Given the description of an element on the screen output the (x, y) to click on. 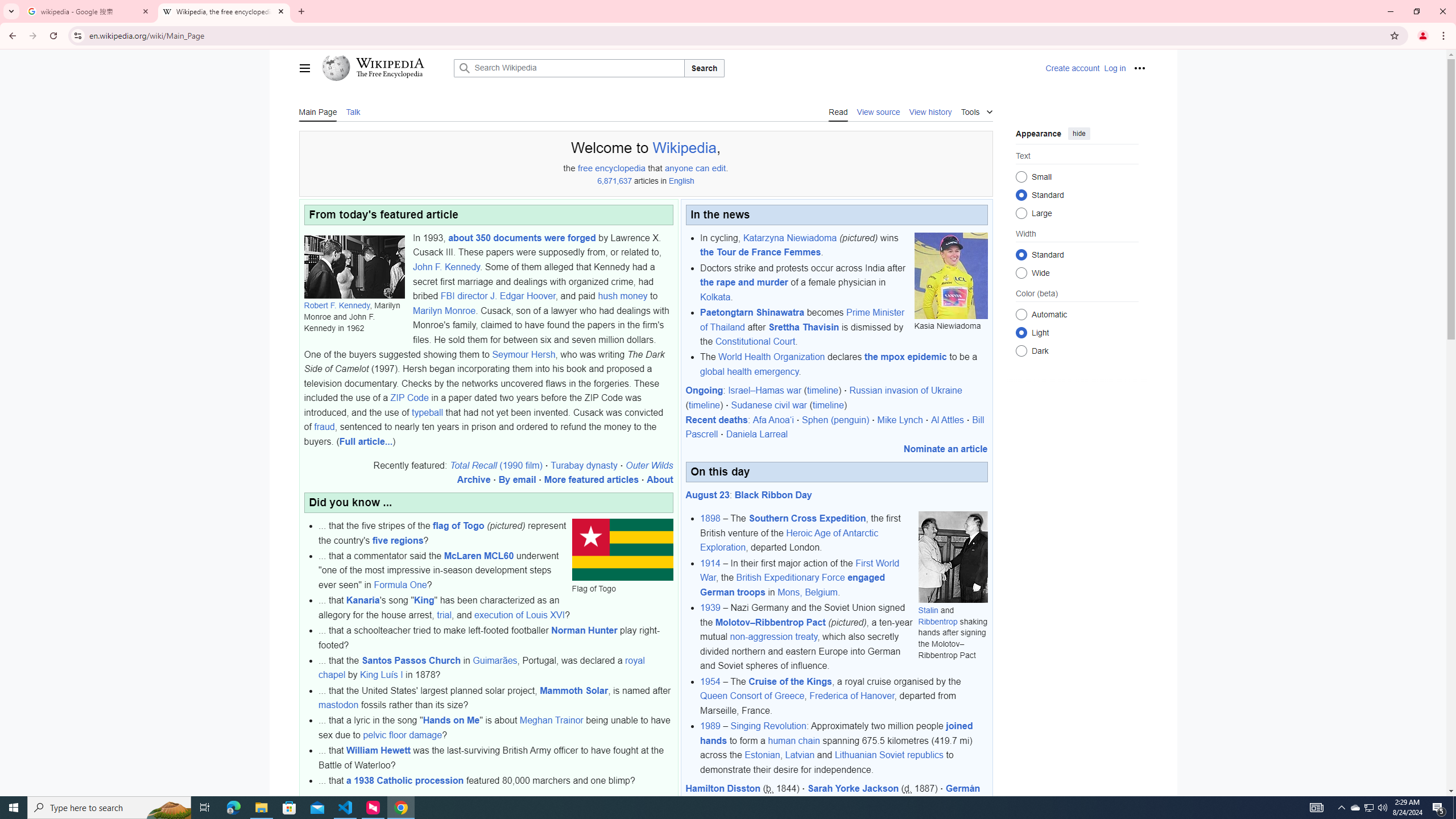
6,871,637 (613, 180)
Log in (1114, 67)
Kasia Niewiadoma (951, 275)
pelvic floor damage (402, 734)
1914 (710, 562)
Sudanese civil war (768, 405)
Black Ribbon Day (772, 494)
AutomationID: ca-talk (353, 111)
Ongoing (704, 390)
Recent deaths (716, 419)
August 23 (707, 494)
Mike Lynch (899, 419)
Kolkata (715, 296)
